Given the description of an element on the screen output the (x, y) to click on. 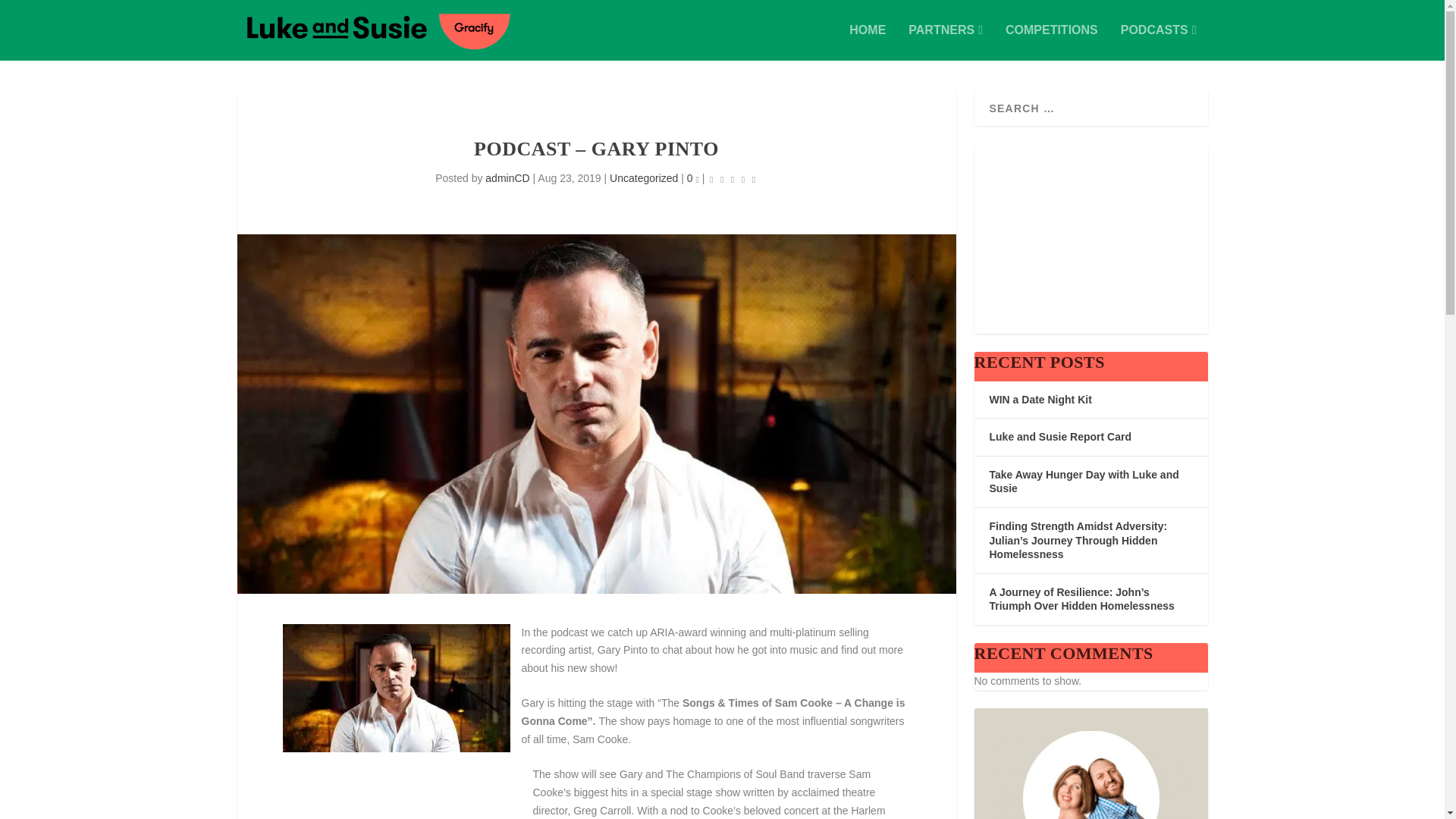
Uncategorized (644, 177)
HOME (866, 42)
COMPETITIONS (1051, 42)
Posts by adminCD (506, 177)
adminCD (506, 177)
PARTNERS (945, 42)
PODCASTS (1158, 42)
Rating: 0.00 (732, 179)
0 (692, 177)
